Given the description of an element on the screen output the (x, y) to click on. 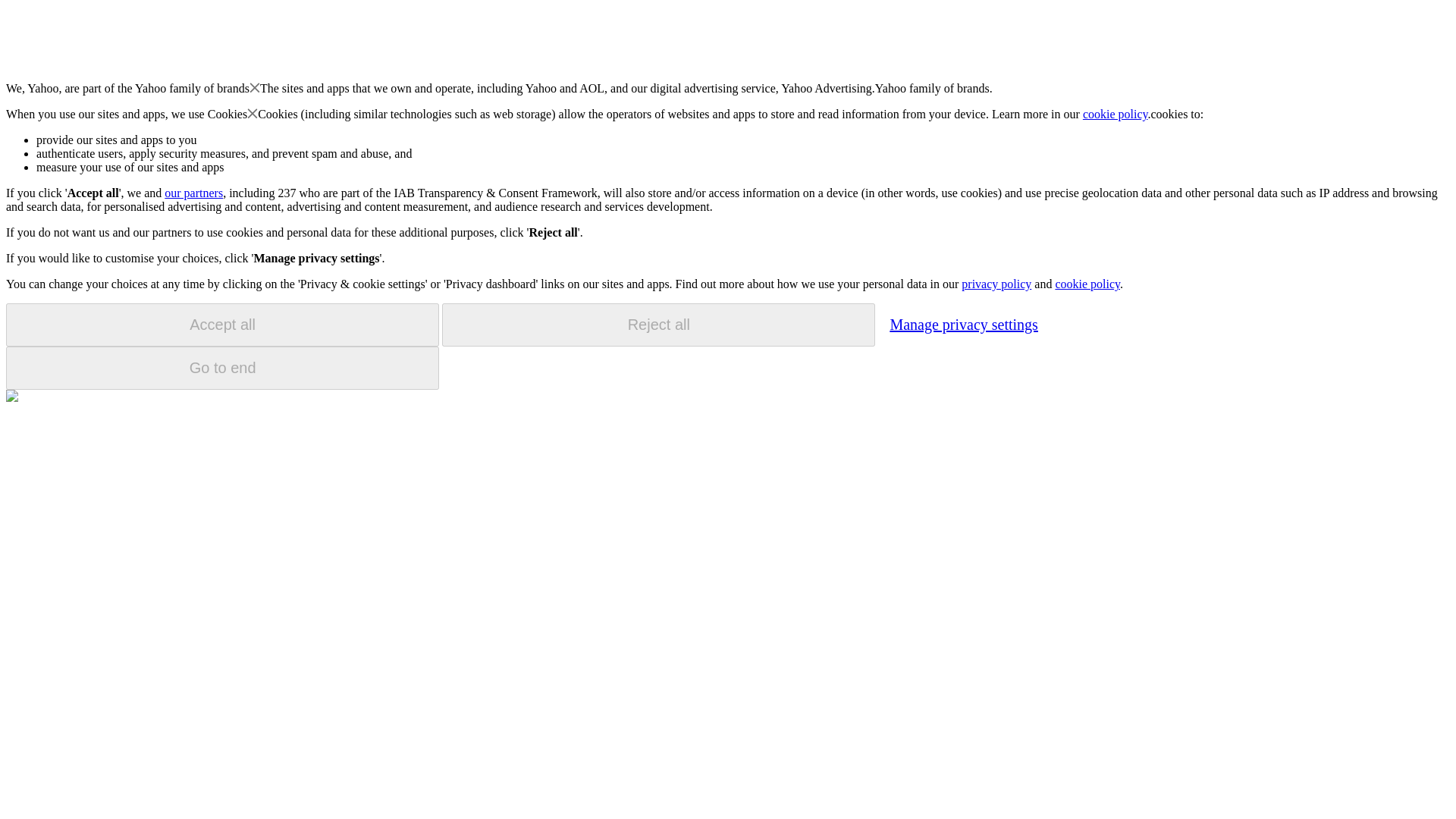
Go to end (222, 367)
cookie policy (1115, 113)
Manage privacy settings (963, 323)
Reject all (658, 324)
our partners (193, 192)
privacy policy (995, 283)
cookie policy (1086, 283)
Accept all (222, 324)
